Given the description of an element on the screen output the (x, y) to click on. 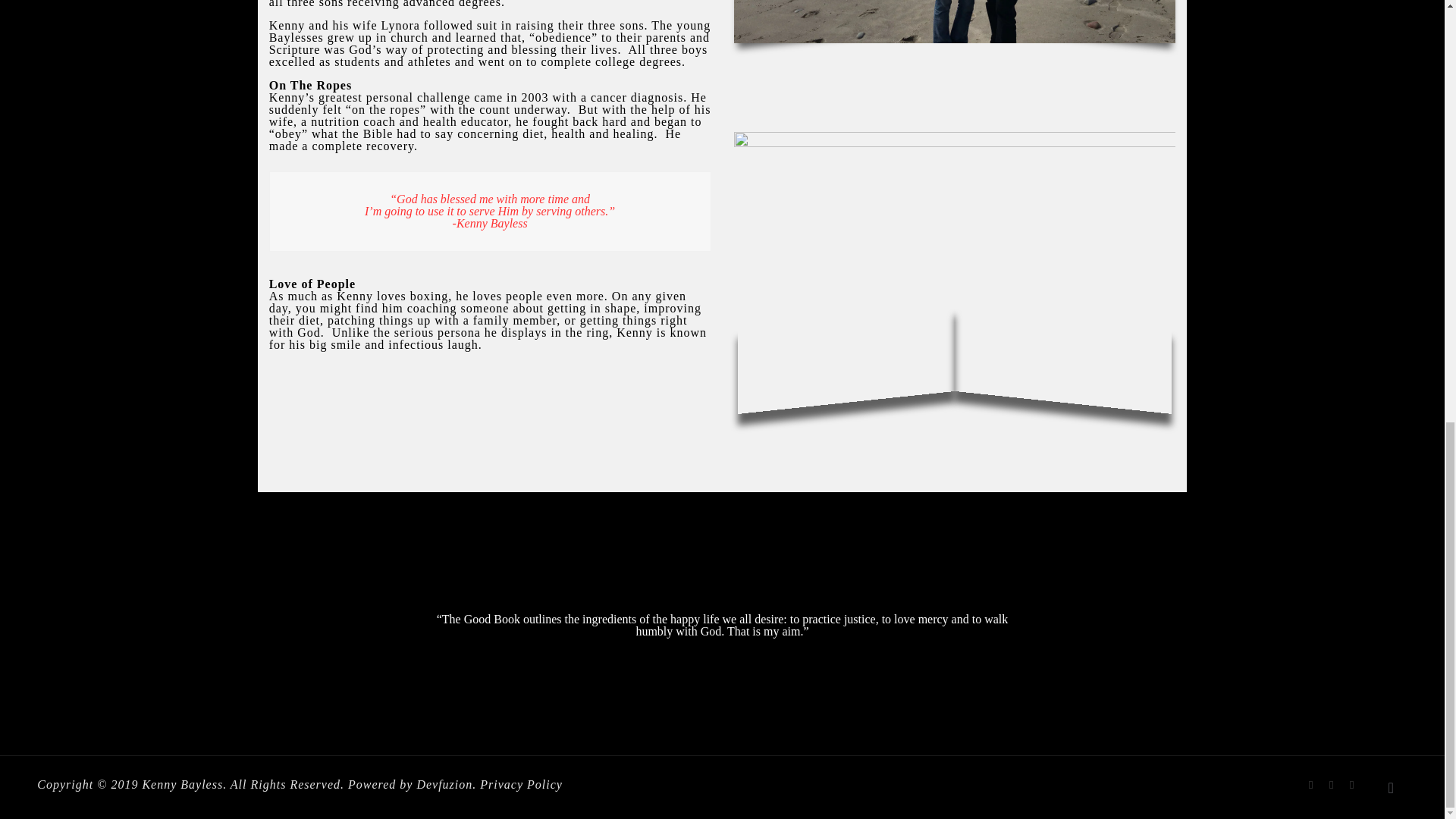
Facebook (1311, 784)
Devfuzion (443, 784)
Privacy Policy (521, 784)
Twitter (1331, 784)
Privacy Policy  (521, 784)
YouTube (1351, 784)
